Given the description of an element on the screen output the (x, y) to click on. 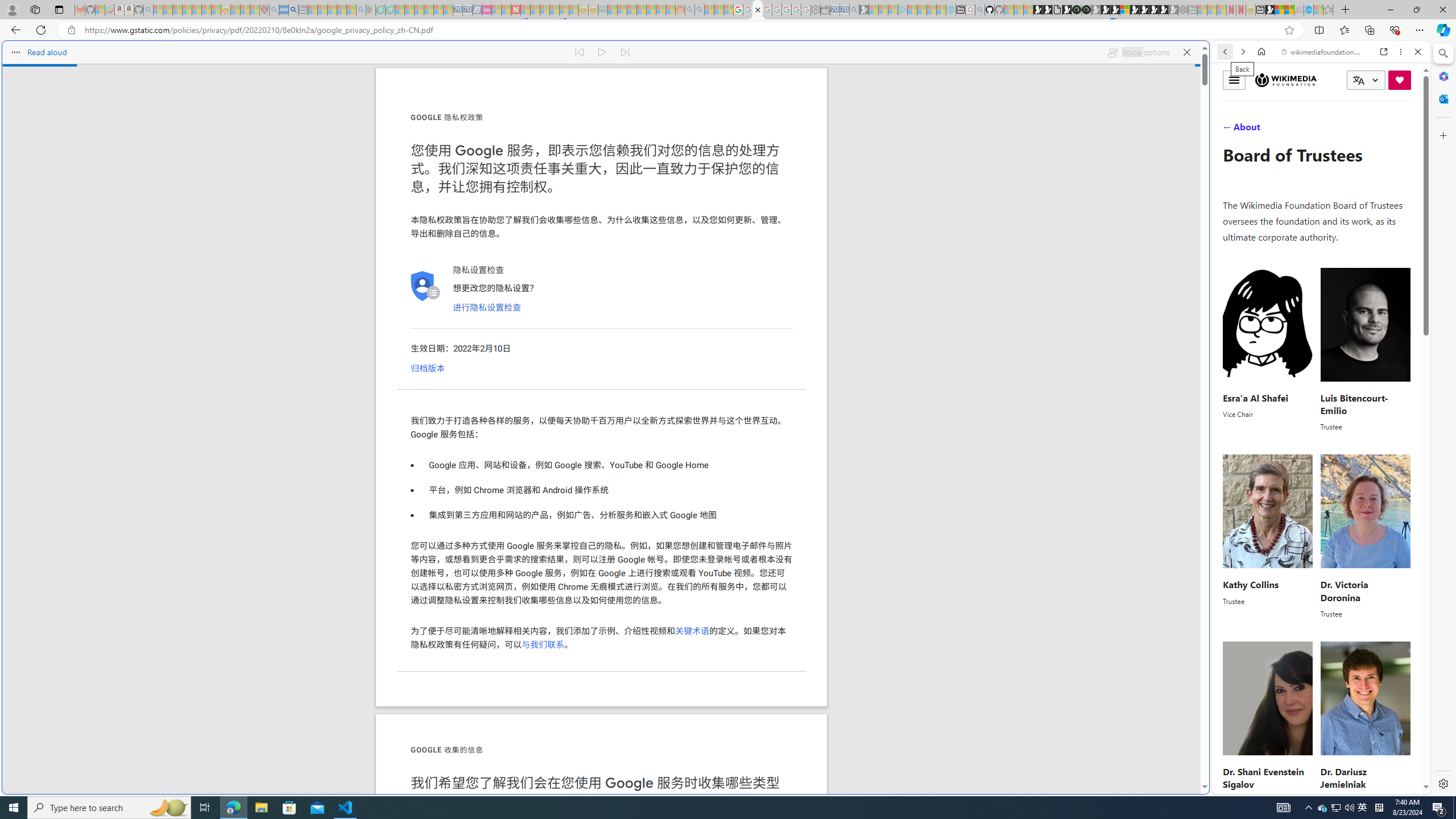
Earth has six continents not seven, radical new study claims (1288, 9)
Tabs you've opened (885, 151)
Voice options (1138, 52)
Services - Maintenance | Sky Blue Bikes - Sky Blue Bikes (1307, 9)
